Given the description of an element on the screen output the (x, y) to click on. 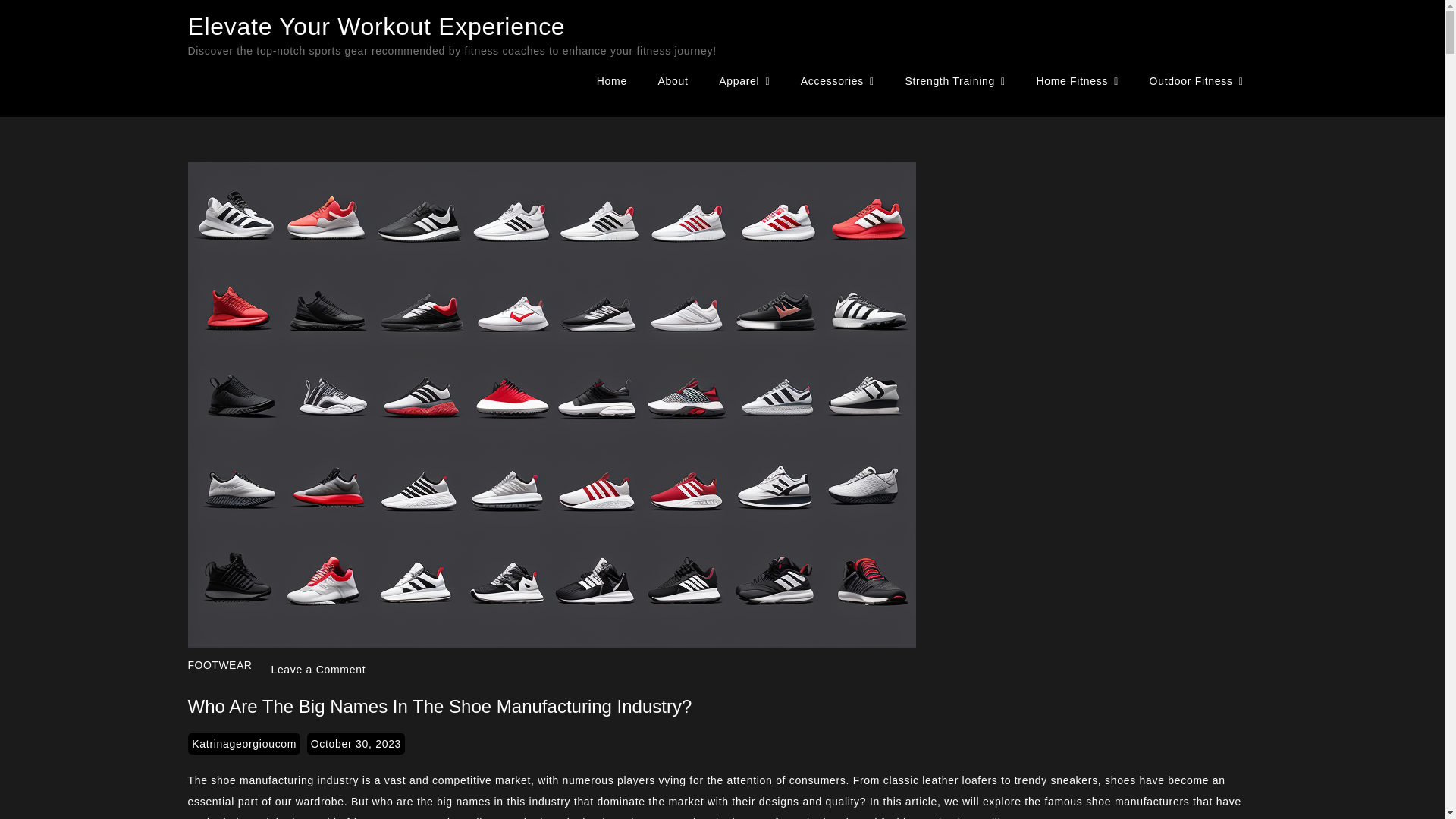
Apparel (743, 81)
FOOTWEAR (219, 664)
Accessories (837, 81)
Strength Training (954, 81)
Home (611, 80)
Home Fitness (1077, 81)
Katrinageorgioucom (243, 743)
About (673, 80)
Outdoor Fitness (1196, 81)
Elevate Your Workout Experience (376, 26)
October 30, 2023 (355, 743)
